Given the description of an element on the screen output the (x, y) to click on. 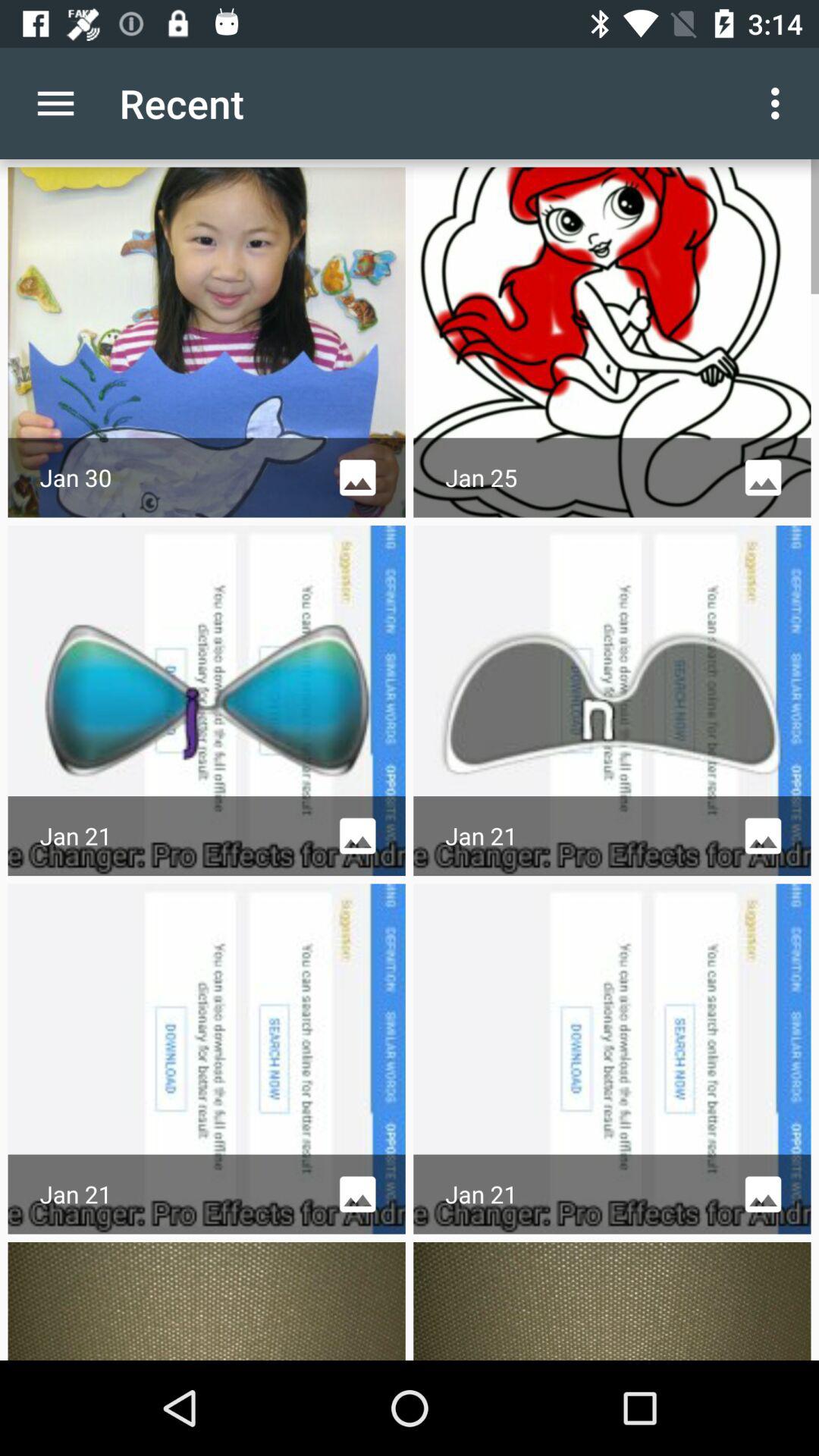
choose the app next to recent (779, 103)
